Given the description of an element on the screen output the (x, y) to click on. 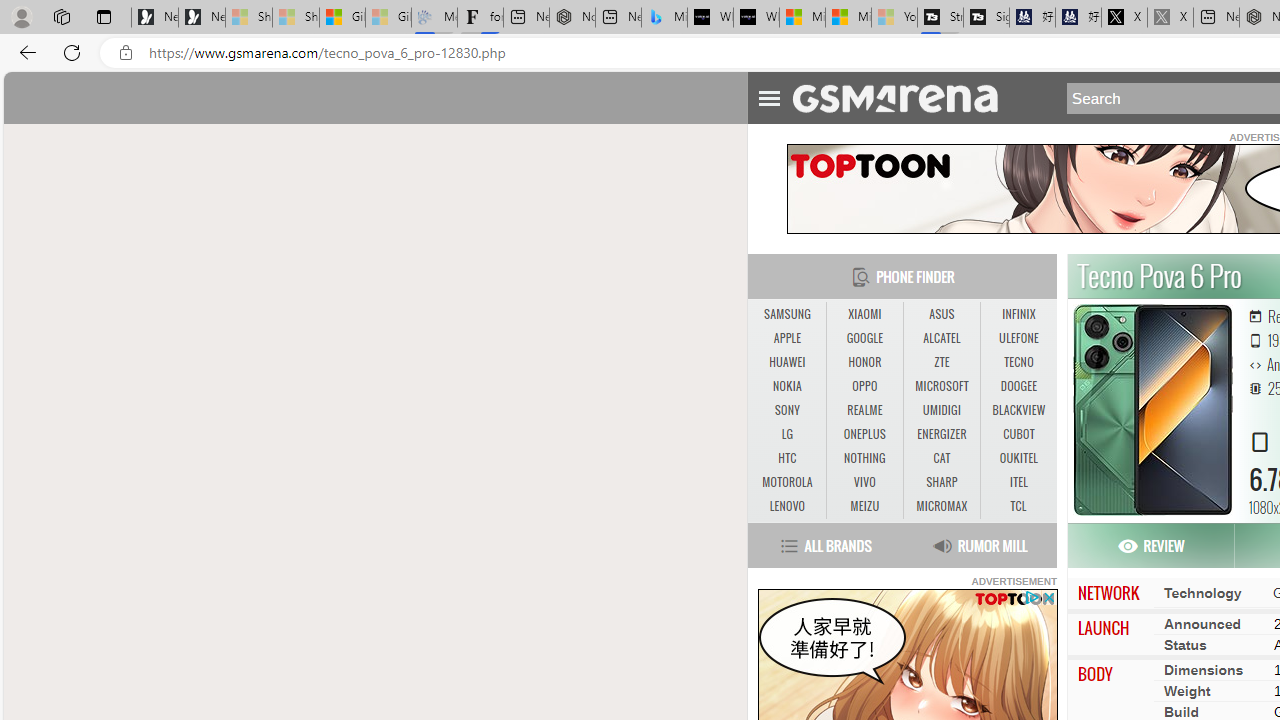
TCL (1018, 506)
Streaming Coverage | T3 (939, 17)
HONOR (864, 362)
TECNO (1018, 362)
MOTOROLA (786, 483)
MEIZU (864, 506)
MICROSOFT (941, 386)
INFINIX (1018, 313)
MOTOROLA (786, 482)
VIVO (863, 482)
OUKITEL (1018, 458)
SHARP (941, 483)
ITEL (1018, 482)
X (1124, 17)
